Given the description of an element on the screen output the (x, y) to click on. 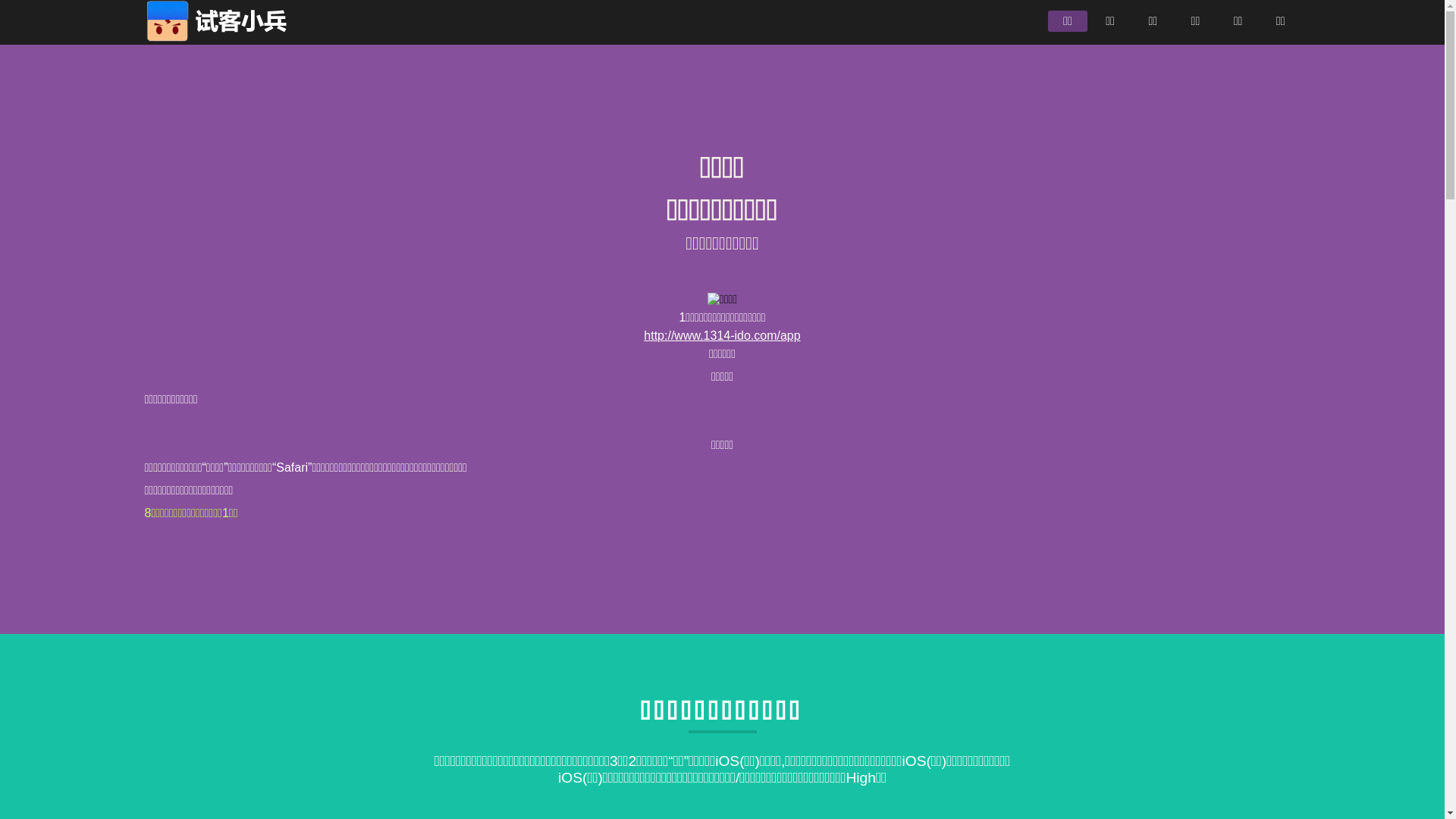
http://www.1314-ido.com/app Element type: text (721, 335)
